Given the description of an element on the screen output the (x, y) to click on. 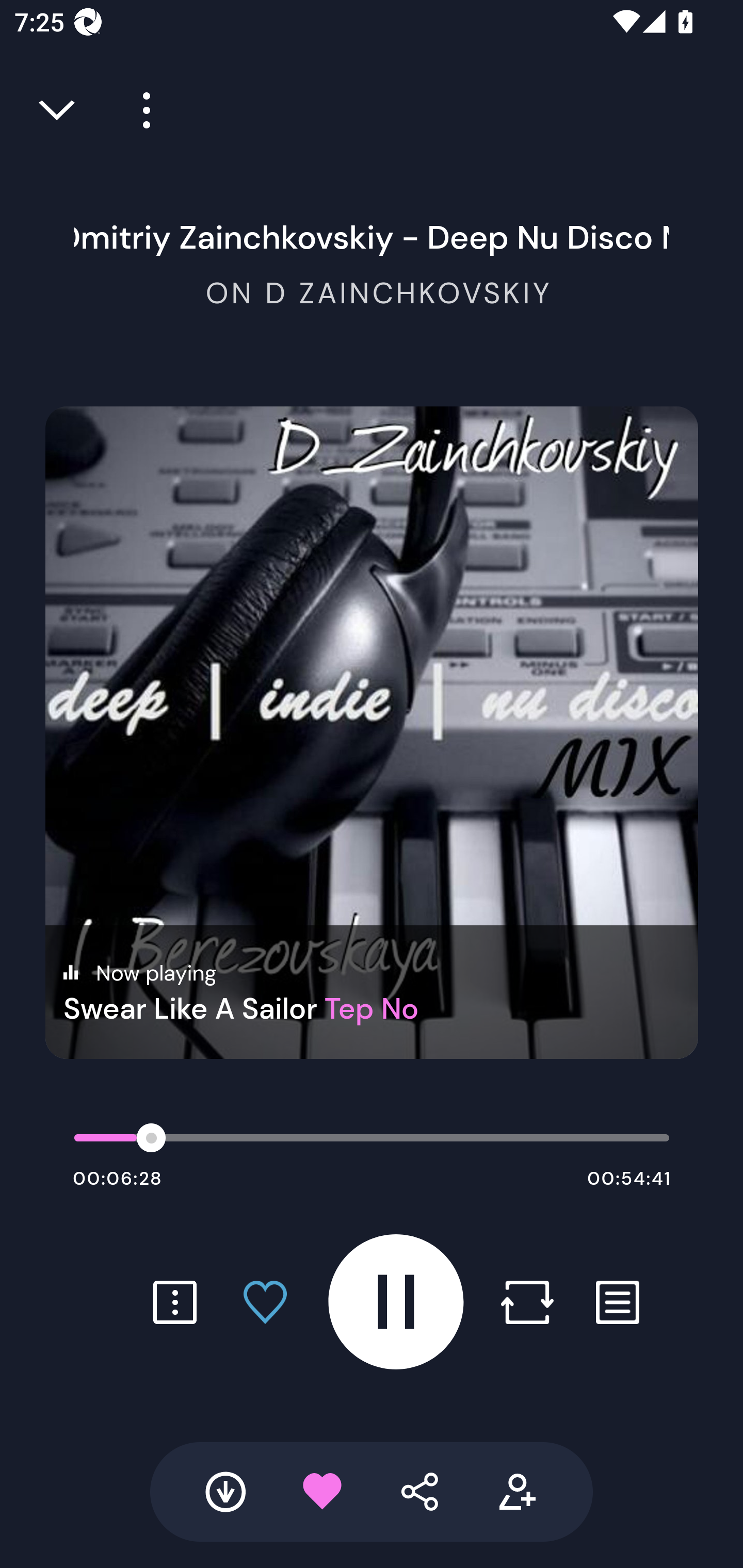
Close full player (58, 110)
Player more options button (139, 110)
Repost button (527, 1301)
